Given the description of an element on the screen output the (x, y) to click on. 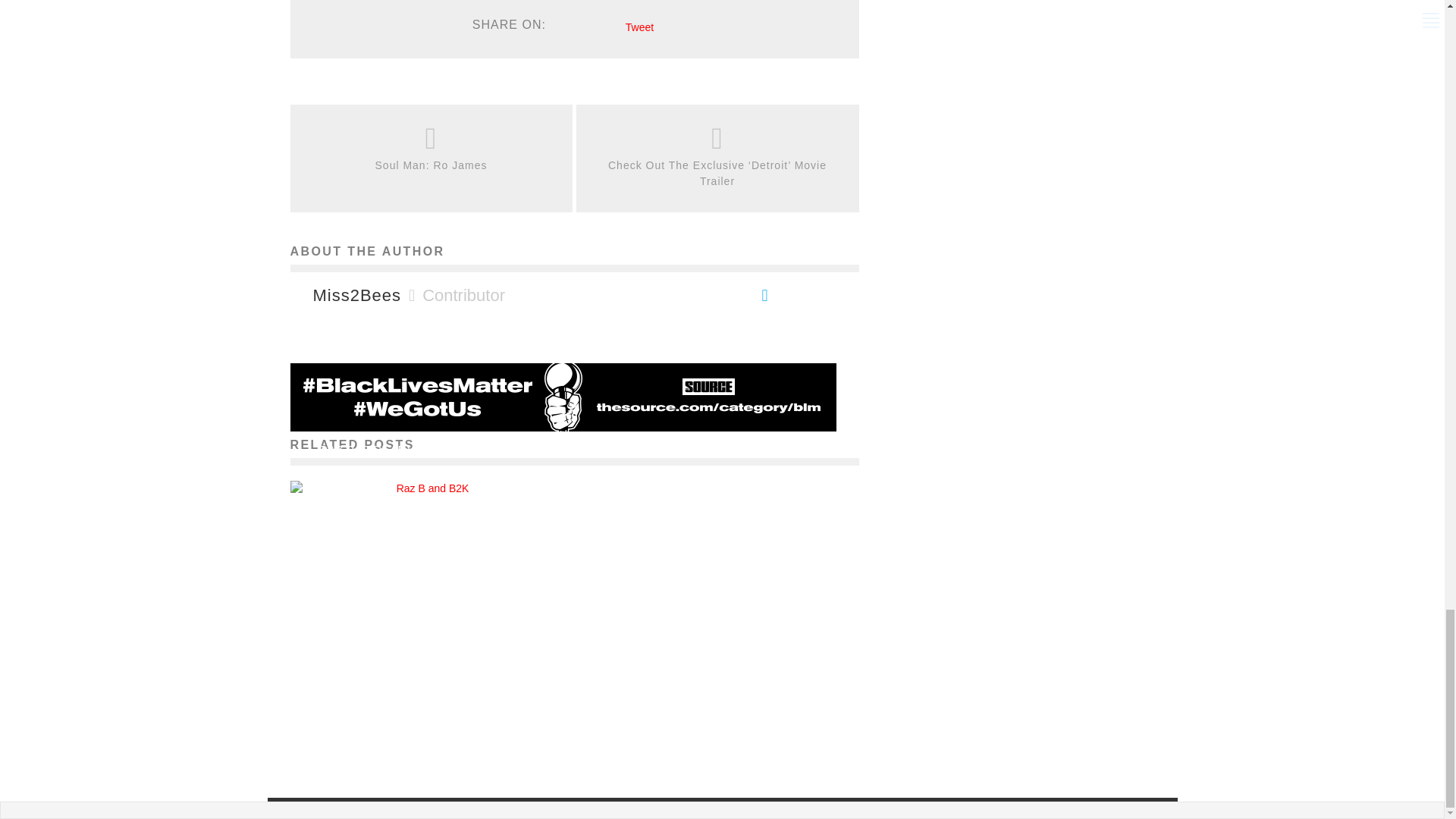
Miss2Bees (357, 295)
Soul Man: Ro James (430, 165)
Tweet (639, 27)
